Given the description of an element on the screen output the (x, y) to click on. 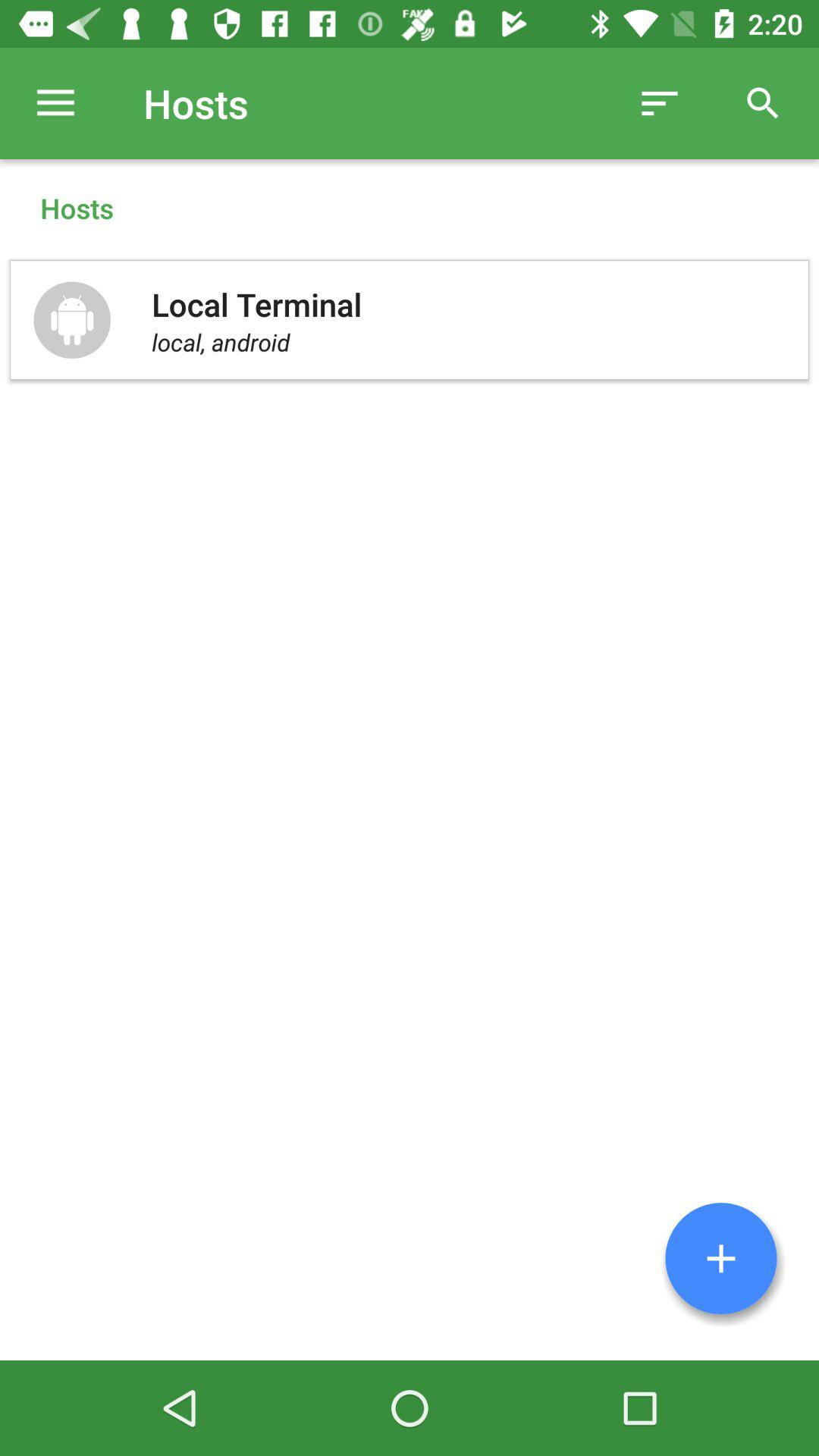
click item to the right of the hosts item (659, 103)
